Given the description of an element on the screen output the (x, y) to click on. 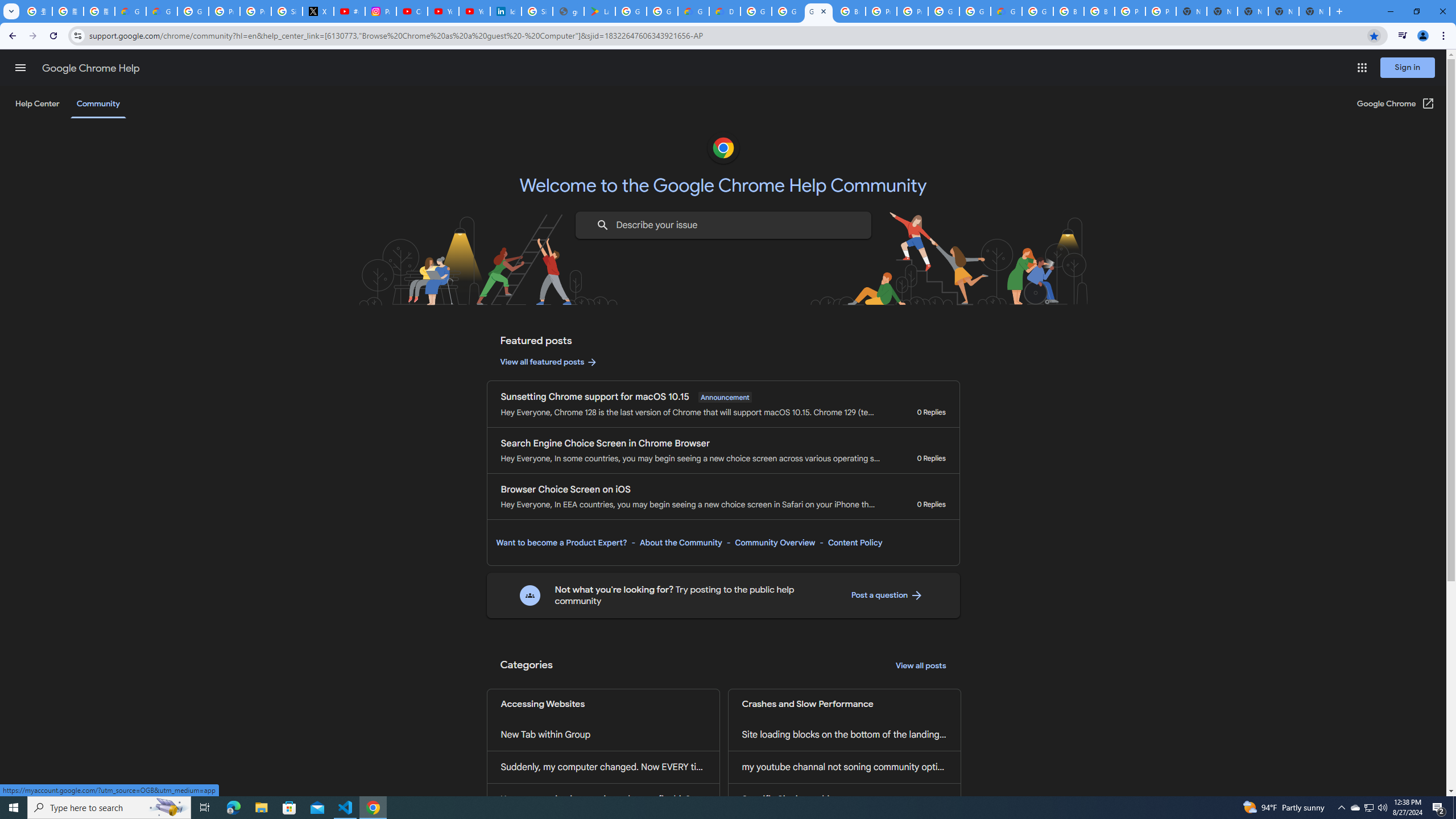
Google Workspace - Specific Terms (662, 11)
Google Chrome Help (90, 68)
Search (601, 225)
Google Cloud Estimate Summary (1005, 11)
Google Cloud Platform (756, 11)
Content Policy (854, 542)
